Given the description of an element on the screen output the (x, y) to click on. 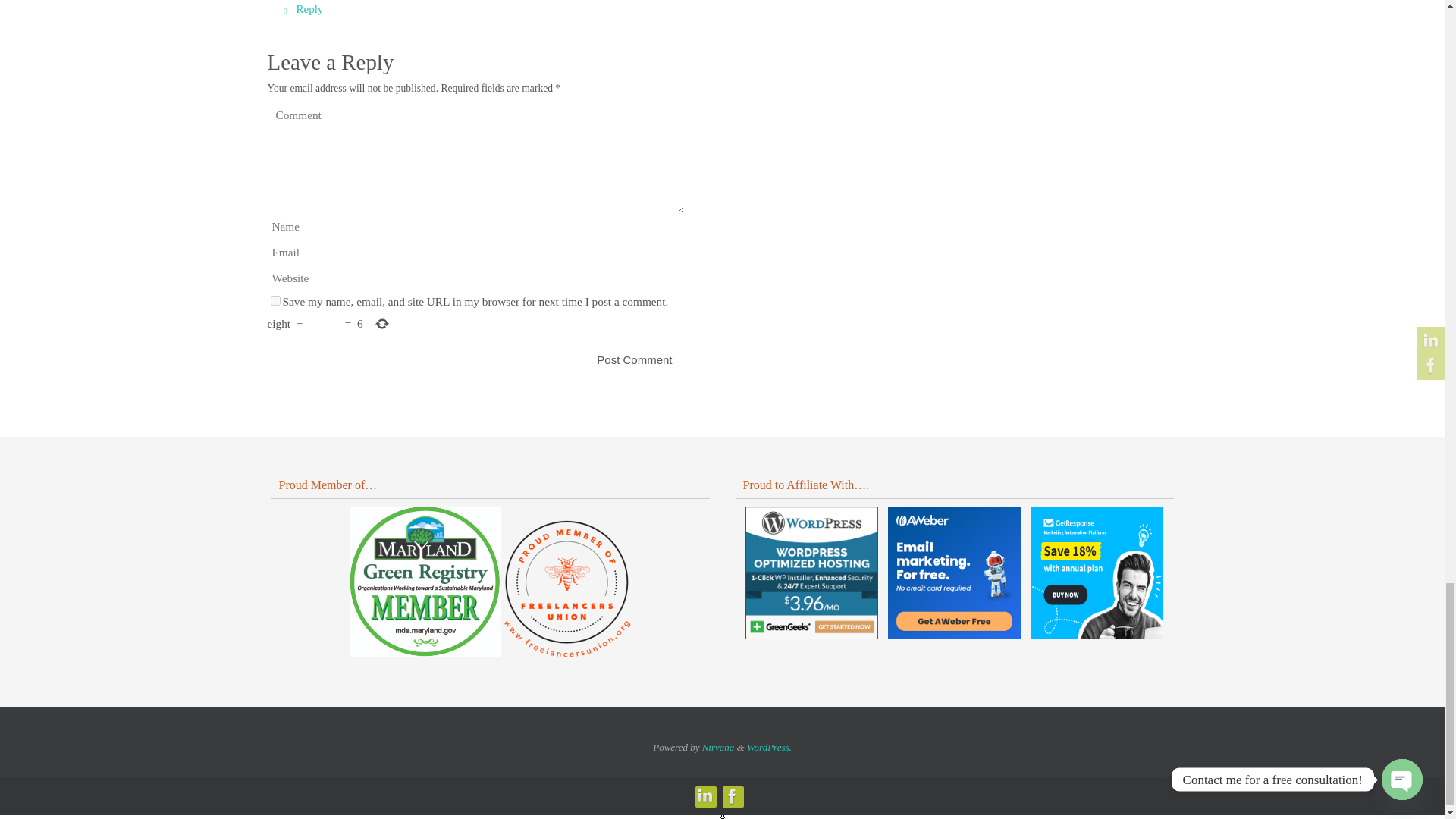
yes (274, 300)
Semantic Personal Publishing Platform (769, 747)
Post Comment (634, 359)
Facebook (731, 795)
Nirvana Theme by Cryout Creations (718, 747)
Reply (300, 11)
Post Comment (634, 359)
LinkedIn (704, 795)
